Given the description of an element on the screen output the (x, y) to click on. 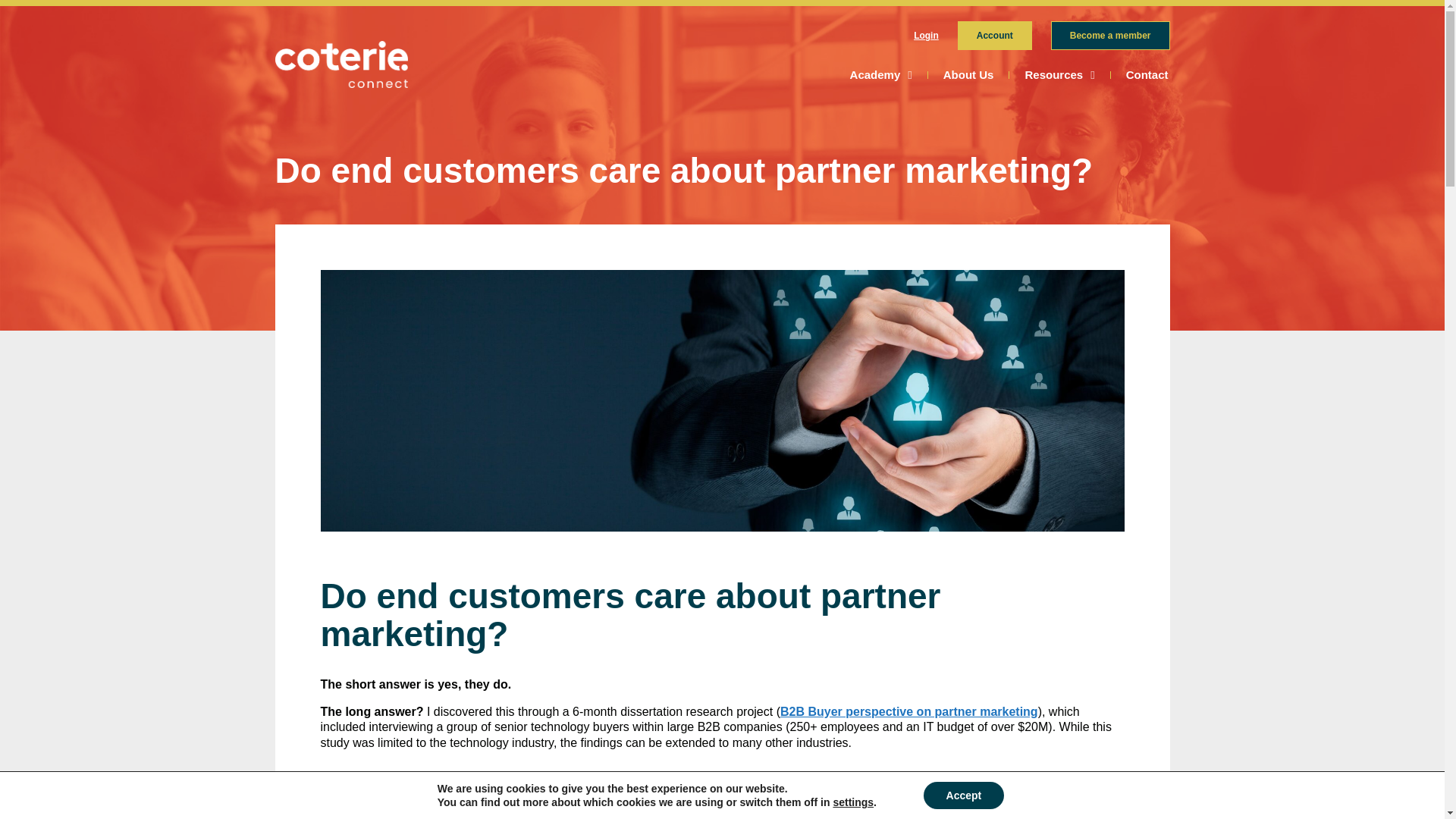
About Us (968, 74)
Resources (1059, 74)
Account (995, 35)
Contact (1146, 74)
Login (926, 35)
Academy (880, 74)
Become a member (1110, 35)
